Given the description of an element on the screen output the (x, y) to click on. 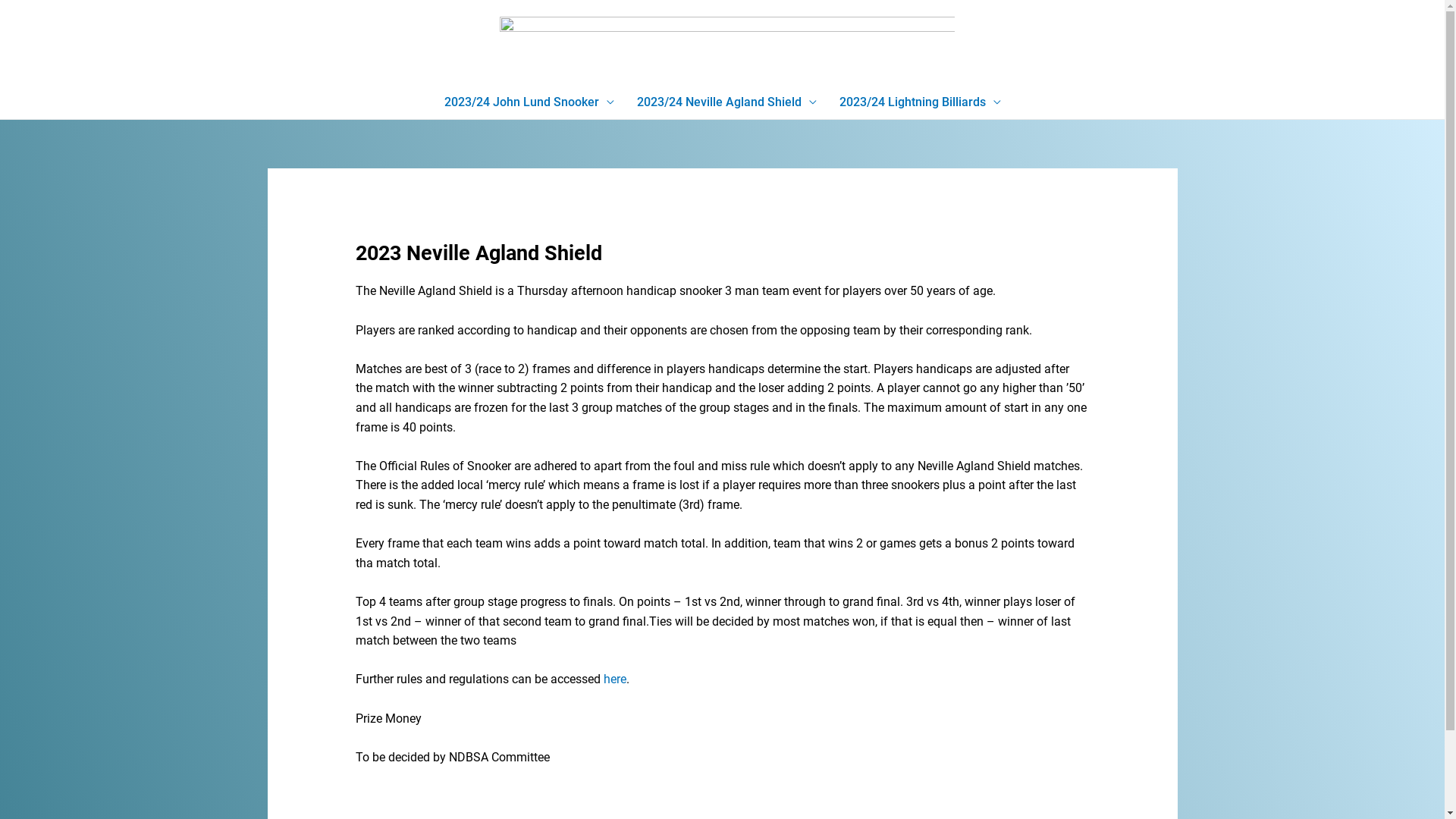
here Element type: text (614, 678)
2023/24 Neville Agland Shield Element type: text (725, 102)
2023/24 Lightning Billiards Element type: text (920, 102)
2023/24 John Lund Snooker Element type: text (528, 102)
